Given the description of an element on the screen output the (x, y) to click on. 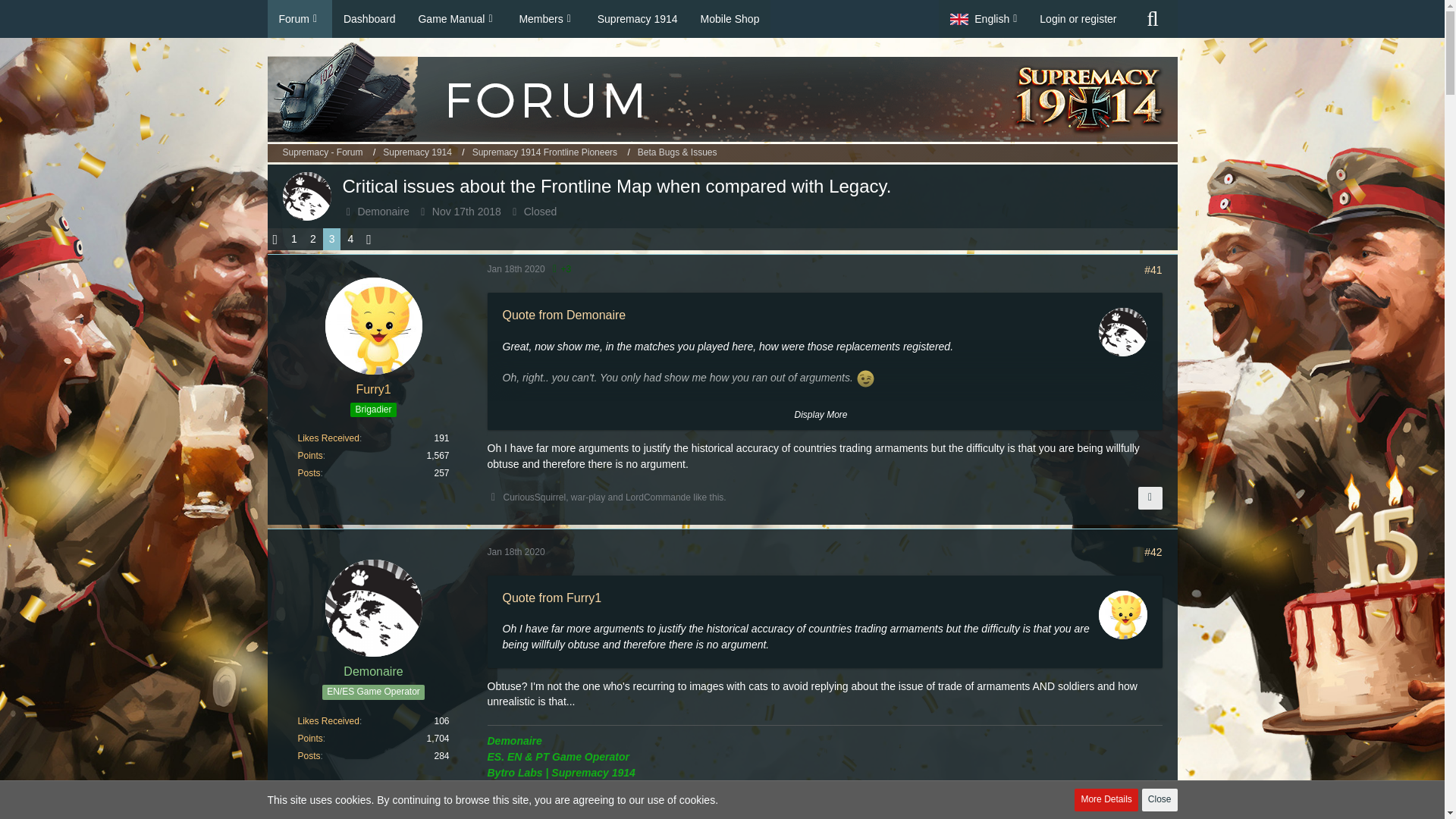
Members (545, 18)
Supremacy 1914 (423, 152)
Nov 17th 2018 (466, 211)
English (983, 18)
Forum (298, 18)
Supremacy - Forum (328, 152)
Game Manual (456, 18)
Supremacy 1914 (416, 152)
Supremacy 1914 Frontline Pioneers (550, 152)
Dashboard (369, 18)
great s1914 (560, 807)
Supremacy - Forum (322, 152)
